Given the description of an element on the screen output the (x, y) to click on. 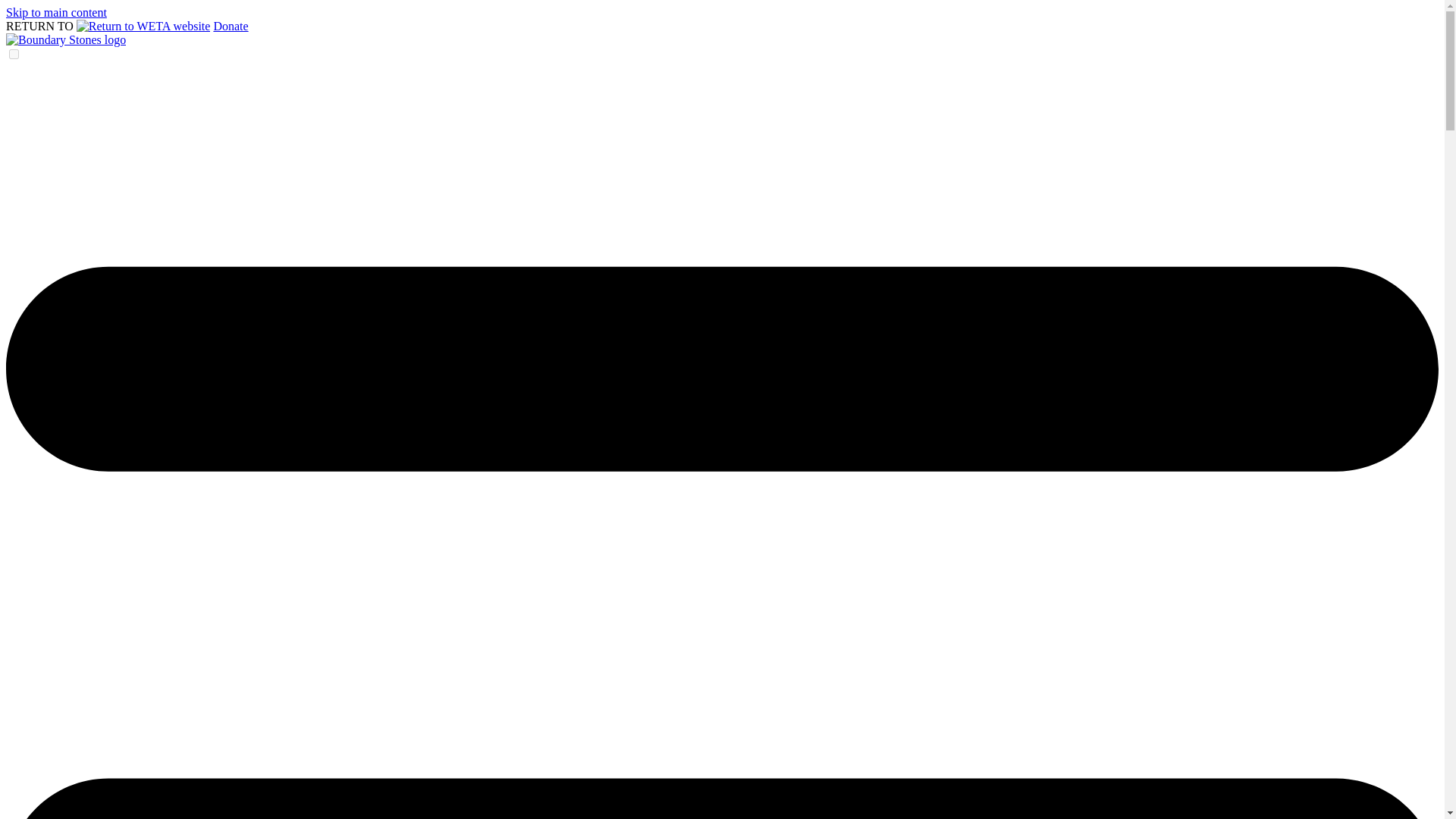
expanded (13, 53)
Donate (229, 25)
Home (65, 39)
Skip to main content (55, 11)
